Given the description of an element on the screen output the (x, y) to click on. 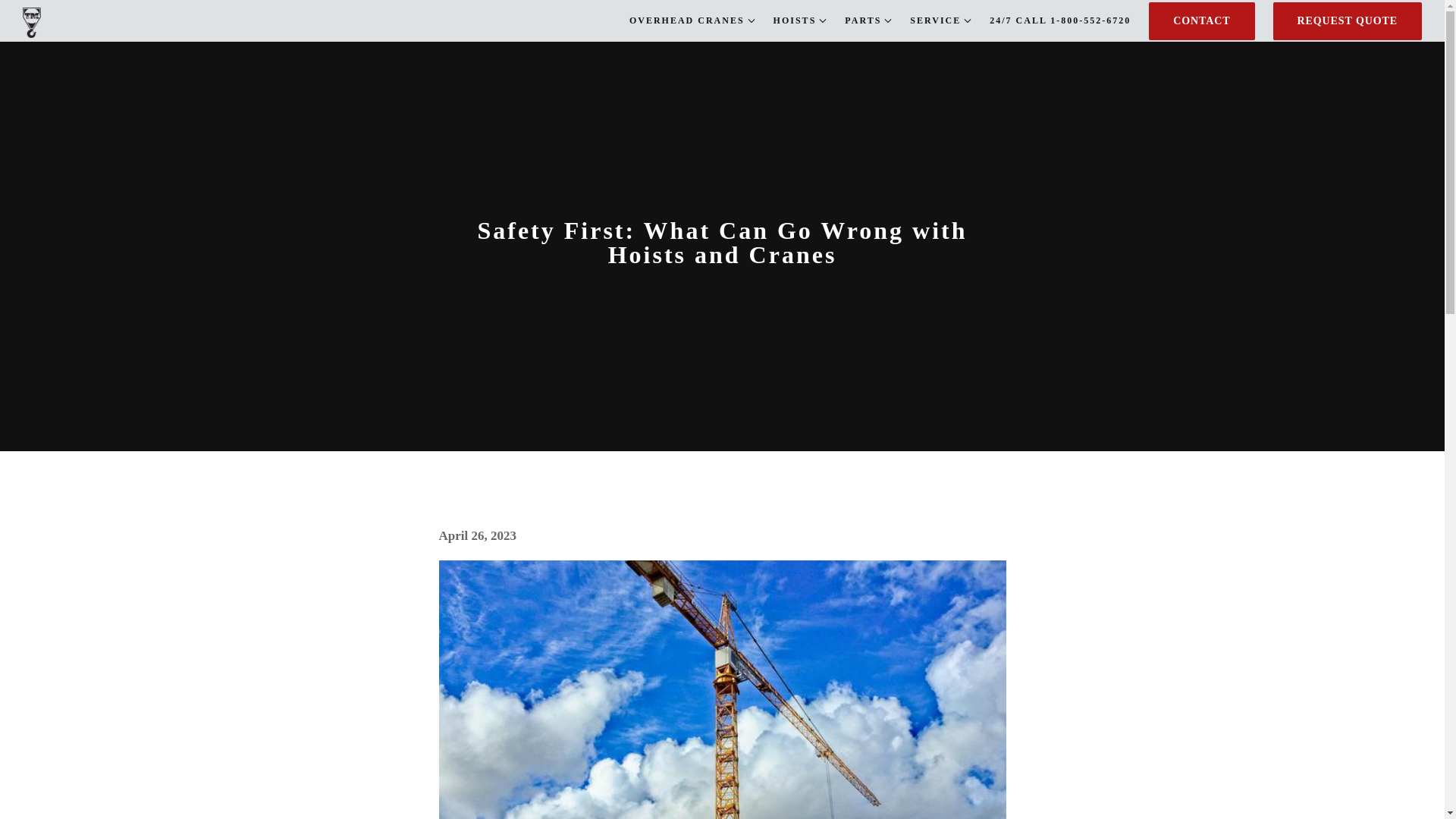
HOISTS (794, 20)
OVERHEAD CRANES (686, 20)
CONTACT (1200, 20)
PARTS (862, 20)
REQUEST QUOTE (1347, 20)
SERVICE (935, 20)
